Given the description of an element on the screen output the (x, y) to click on. 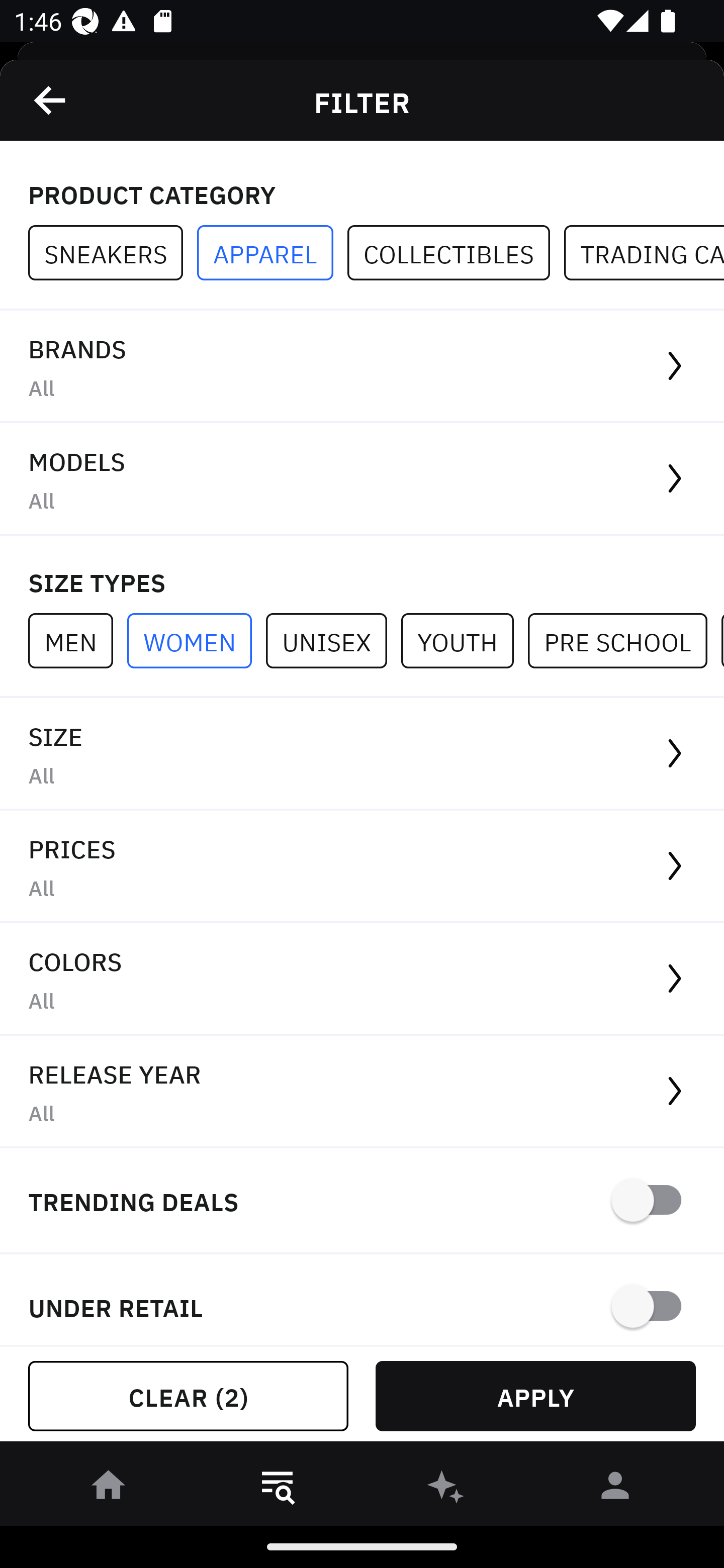
 (50, 100)
SNEAKERS (112, 252)
APPAREL (271, 252)
COLLECTIBLES (455, 252)
TRADING CARDS (643, 252)
BRANDS All (362, 366)
MODELS All (362, 479)
MEN (77, 640)
WOMEN (196, 640)
UNISEX (333, 640)
YOUTH (464, 640)
PRE SCHOOL (624, 640)
SIZE All (362, 753)
PRICES All (362, 866)
COLORS All (362, 979)
RELEASE YEAR All (362, 1091)
TRENDING DEALS (362, 1200)
UNDER RETAIL (362, 1299)
CLEAR (2) (188, 1396)
APPLY (535, 1396)
󰋜 (108, 1488)
󱎸 (277, 1488)
󰫢 (446, 1488)
󰀄 (615, 1488)
